Given the description of an element on the screen output the (x, y) to click on. 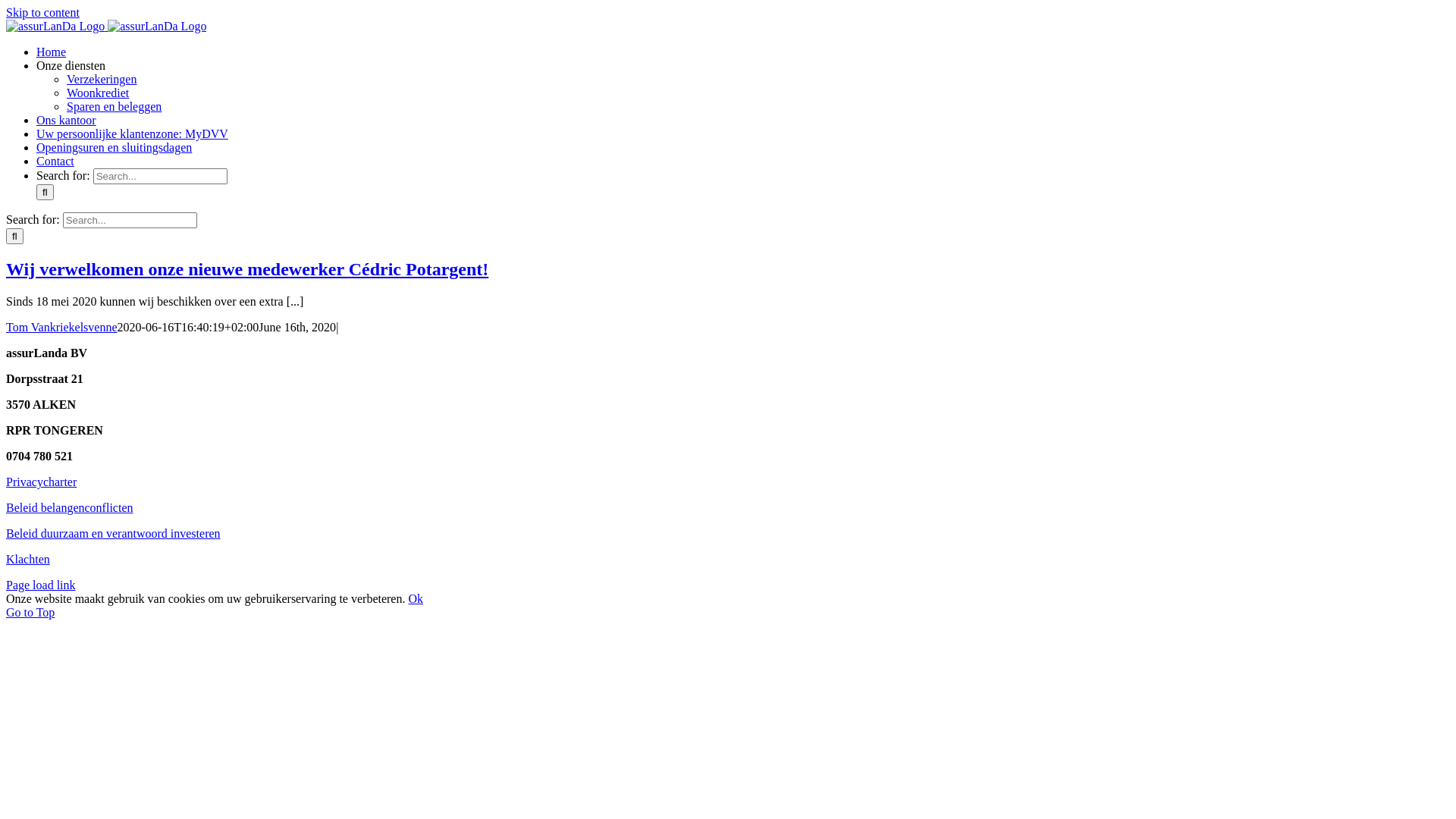
Skip to content Element type: text (42, 12)
Page load link Element type: text (40, 584)
Onze diensten Element type: text (70, 65)
Openingsuren en sluitingsdagen Element type: text (113, 147)
Beleid duurzaam en verantwoord investeren Element type: text (113, 533)
Ons kantoor Element type: text (66, 119)
Verzekeringen Element type: text (101, 78)
Sparen en beleggen Element type: text (113, 106)
Home Element type: text (50, 51)
Tom Vankriekelsvenne Element type: text (61, 326)
Privacycharter Element type: text (41, 485)
Woonkrediet Element type: text (97, 92)
Beleid belangenconflicten Element type: text (69, 507)
Contact Element type: text (55, 160)
Go to Top Element type: text (30, 611)
Klachten Element type: text (28, 558)
Ok Element type: text (415, 598)
Uw persoonlijke klantenzone: MyDVV Element type: text (132, 133)
